Given the description of an element on the screen output the (x, y) to click on. 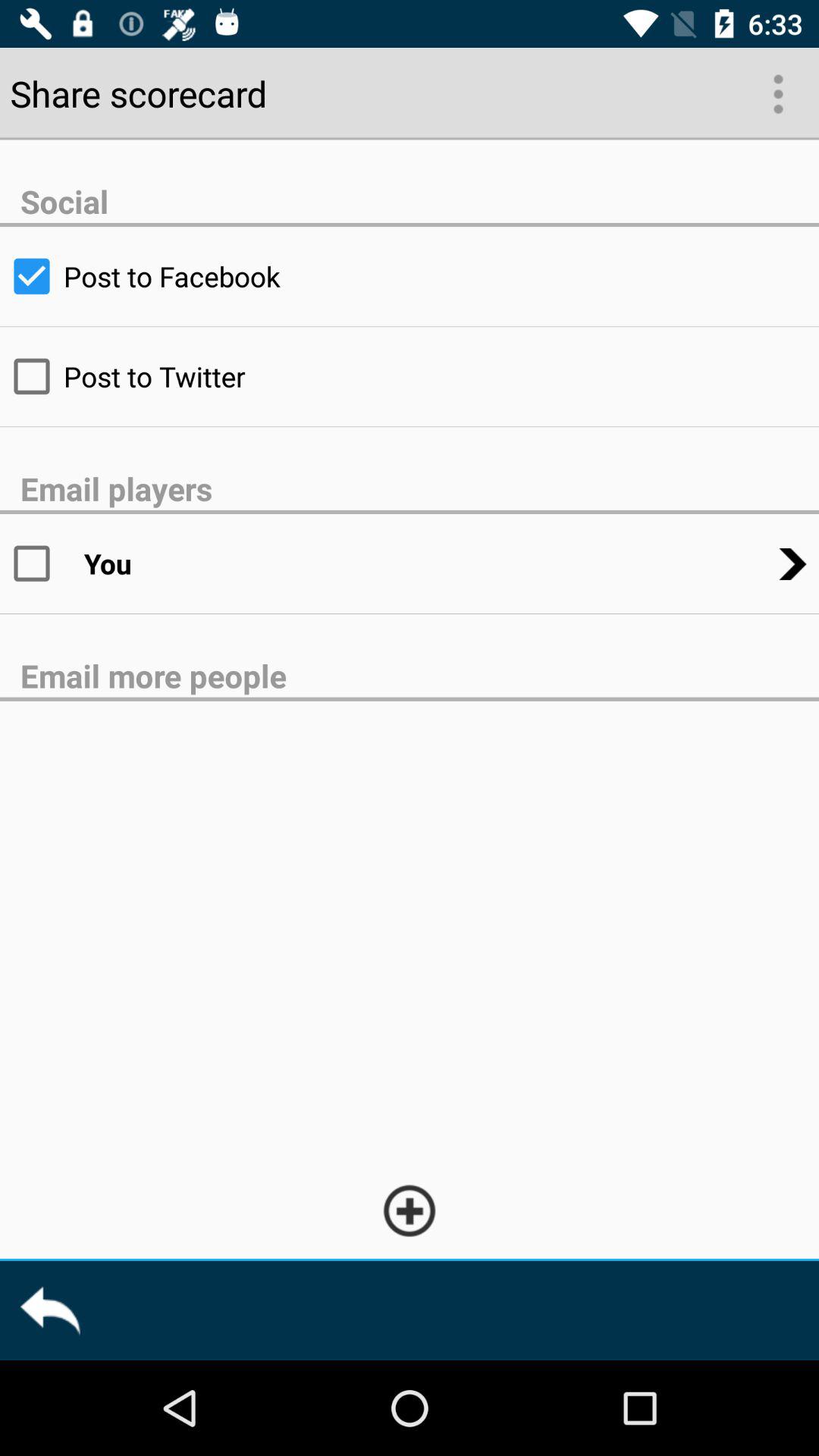
turn on item next to you icon (42, 563)
